Given the description of an element on the screen output the (x, y) to click on. 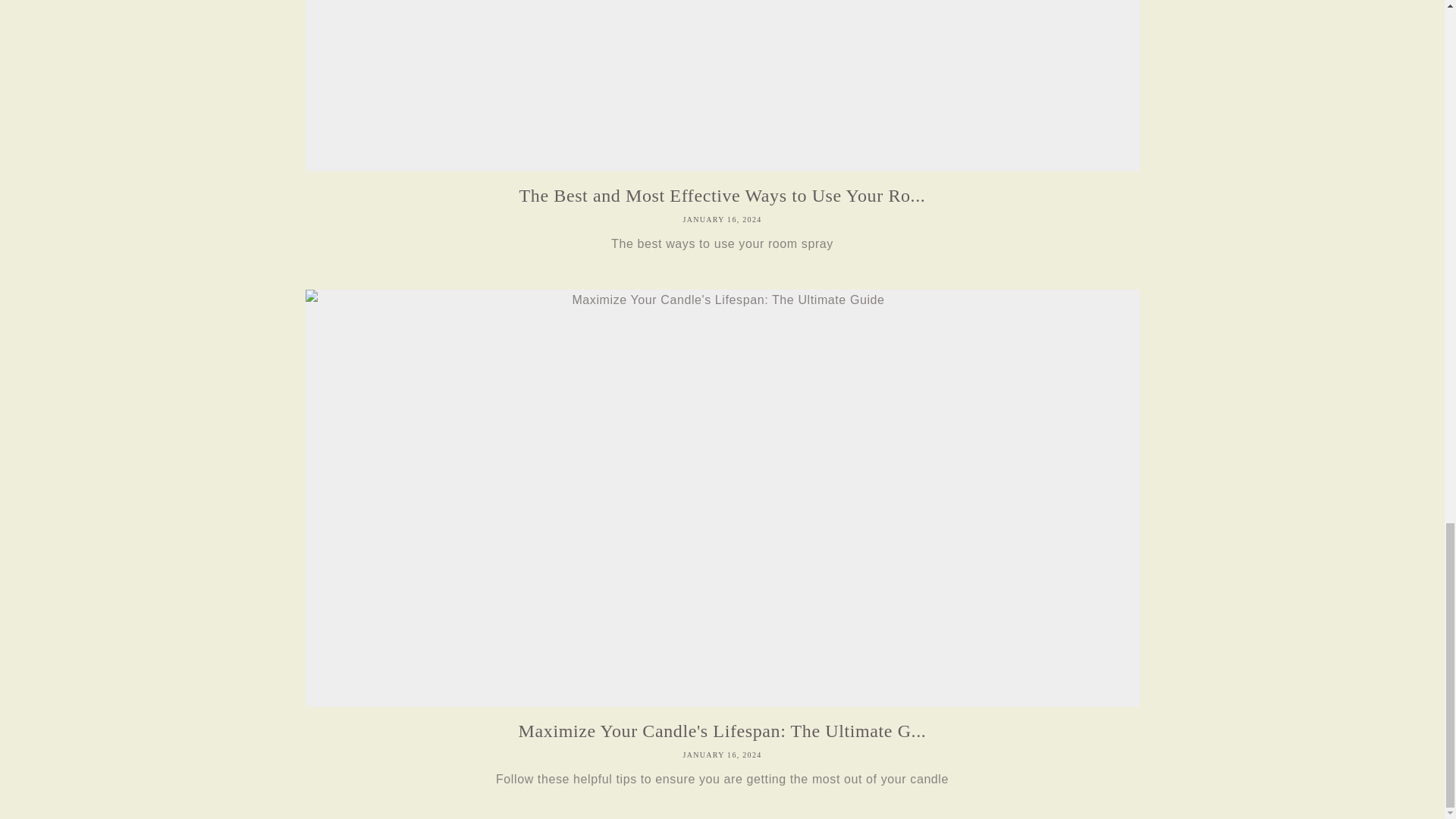
Maximize Your Candle's Lifespan: The Ultimate G... (721, 730)
The Best and Most Effective Ways to Use Your Ro... (721, 196)
